Given the description of an element on the screen output the (x, y) to click on. 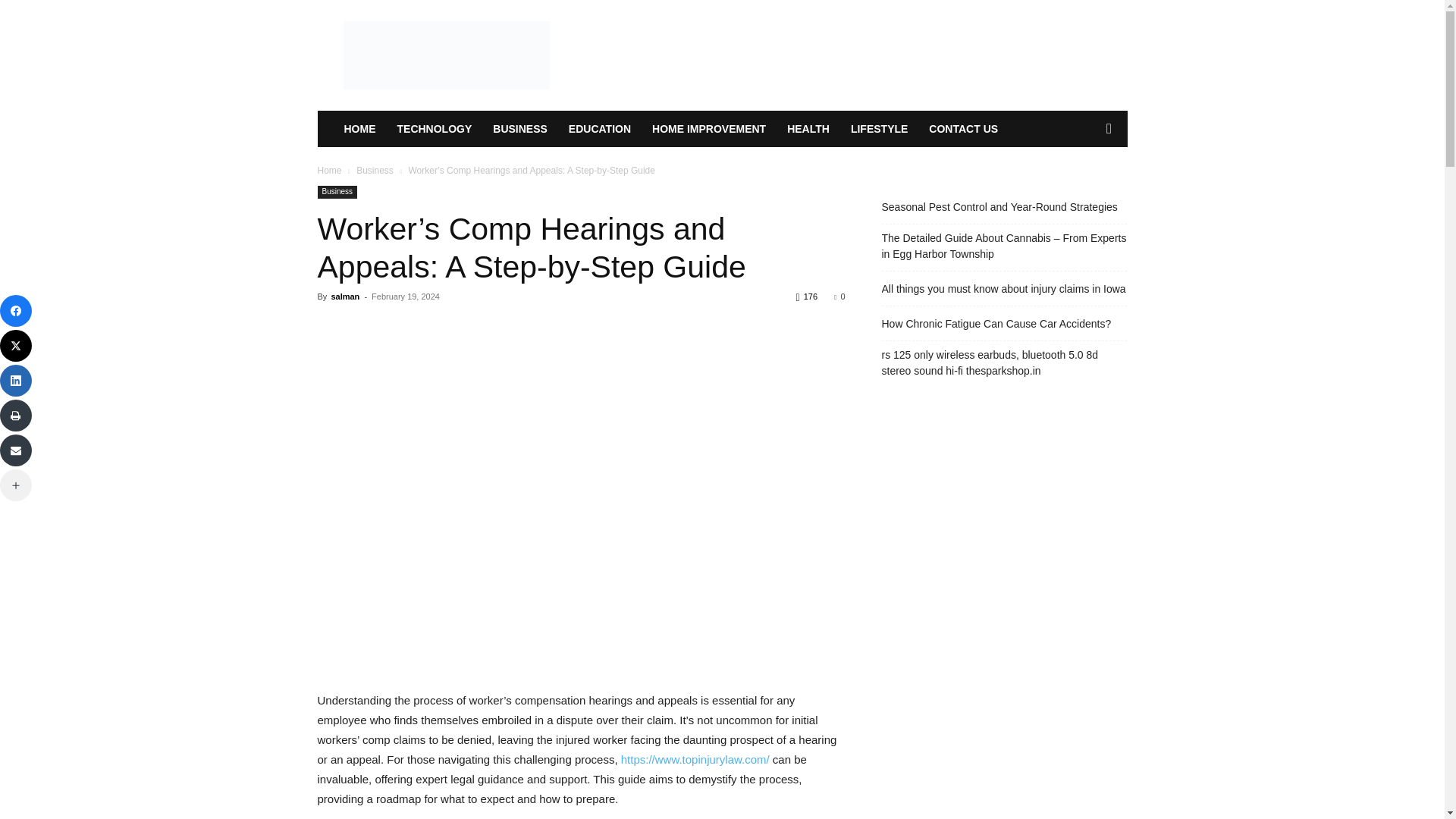
Search (1085, 189)
BUSINESS (519, 128)
HOME (360, 128)
Business (374, 170)
EDUCATION (599, 128)
LIFESTYLE (879, 128)
Home (328, 170)
TECHNOLOGY (435, 128)
HOME IMPROVEMENT (709, 128)
CONTACT US (963, 128)
